Given the description of an element on the screen output the (x, y) to click on. 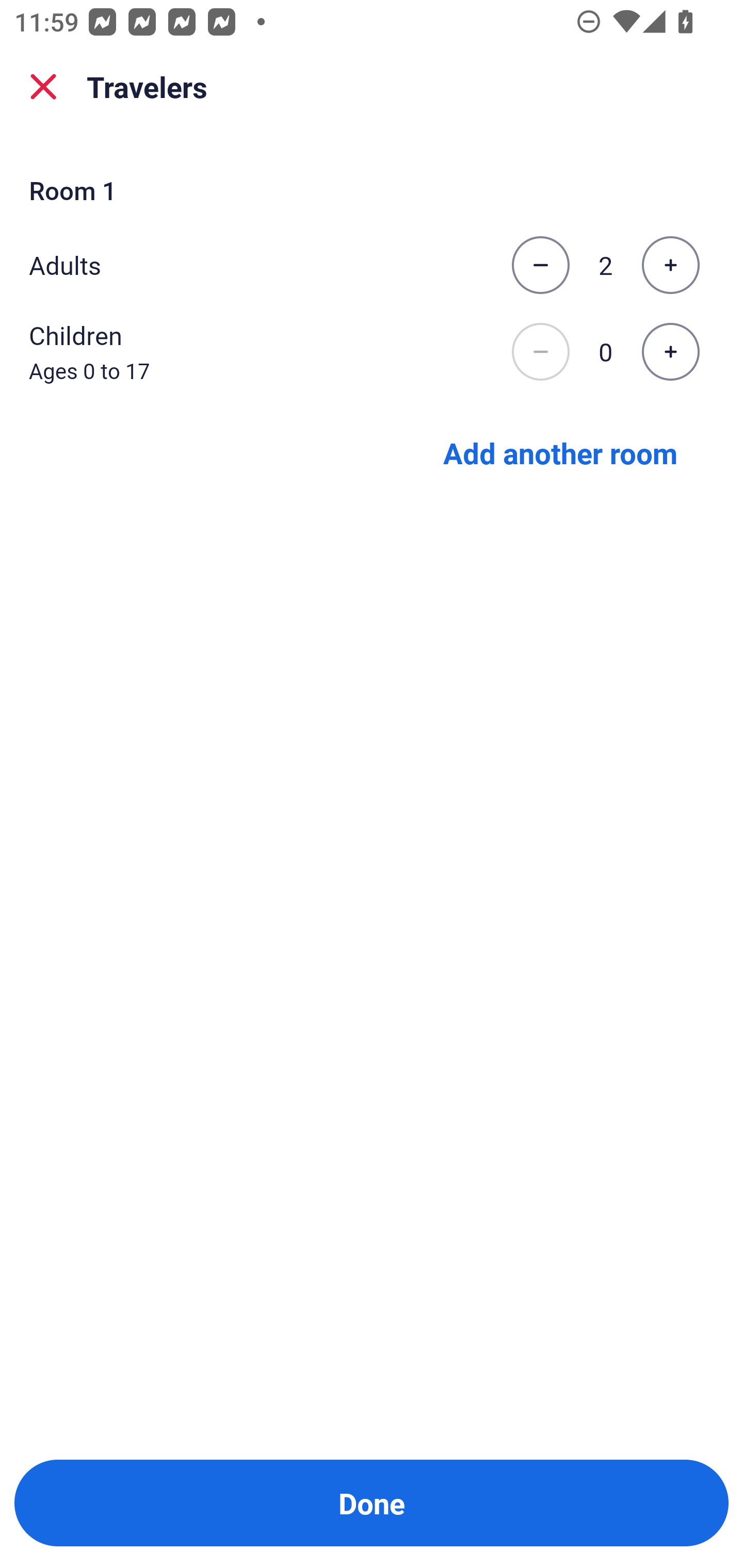
close (43, 86)
Decrease the number of adults (540, 264)
Increase the number of adults (670, 264)
Decrease the number of children (540, 351)
Increase the number of children (670, 351)
Add another room (560, 452)
Done (371, 1502)
